Given the description of an element on the screen output the (x, y) to click on. 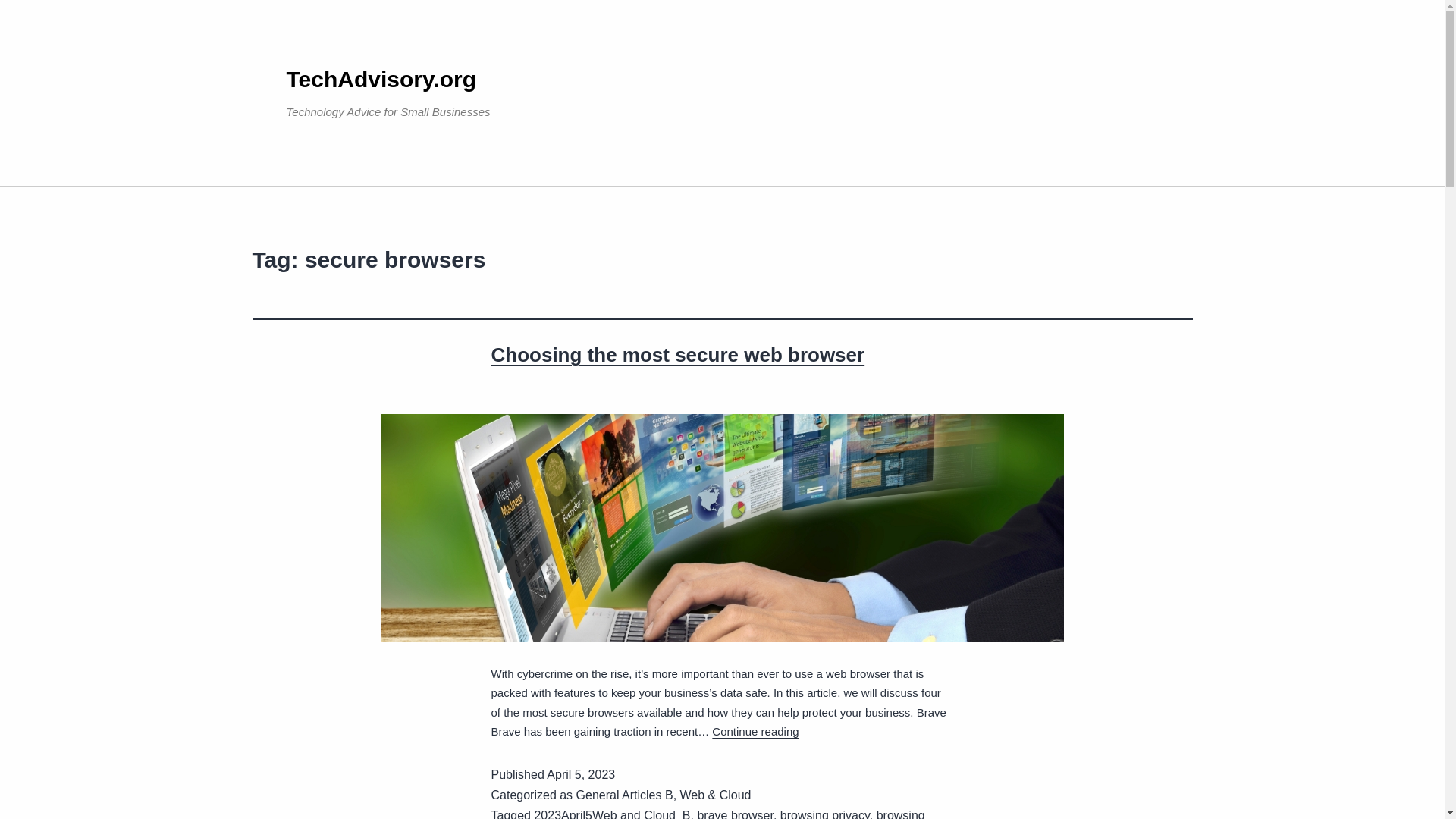
browsing privacy (824, 814)
brave browser (735, 814)
Continue reading (754, 730)
browsing safety (708, 814)
Choosing the most secure web browser (678, 354)
TechAdvisory.org (381, 78)
General Articles B (624, 794)
